Given the description of an element on the screen output the (x, y) to click on. 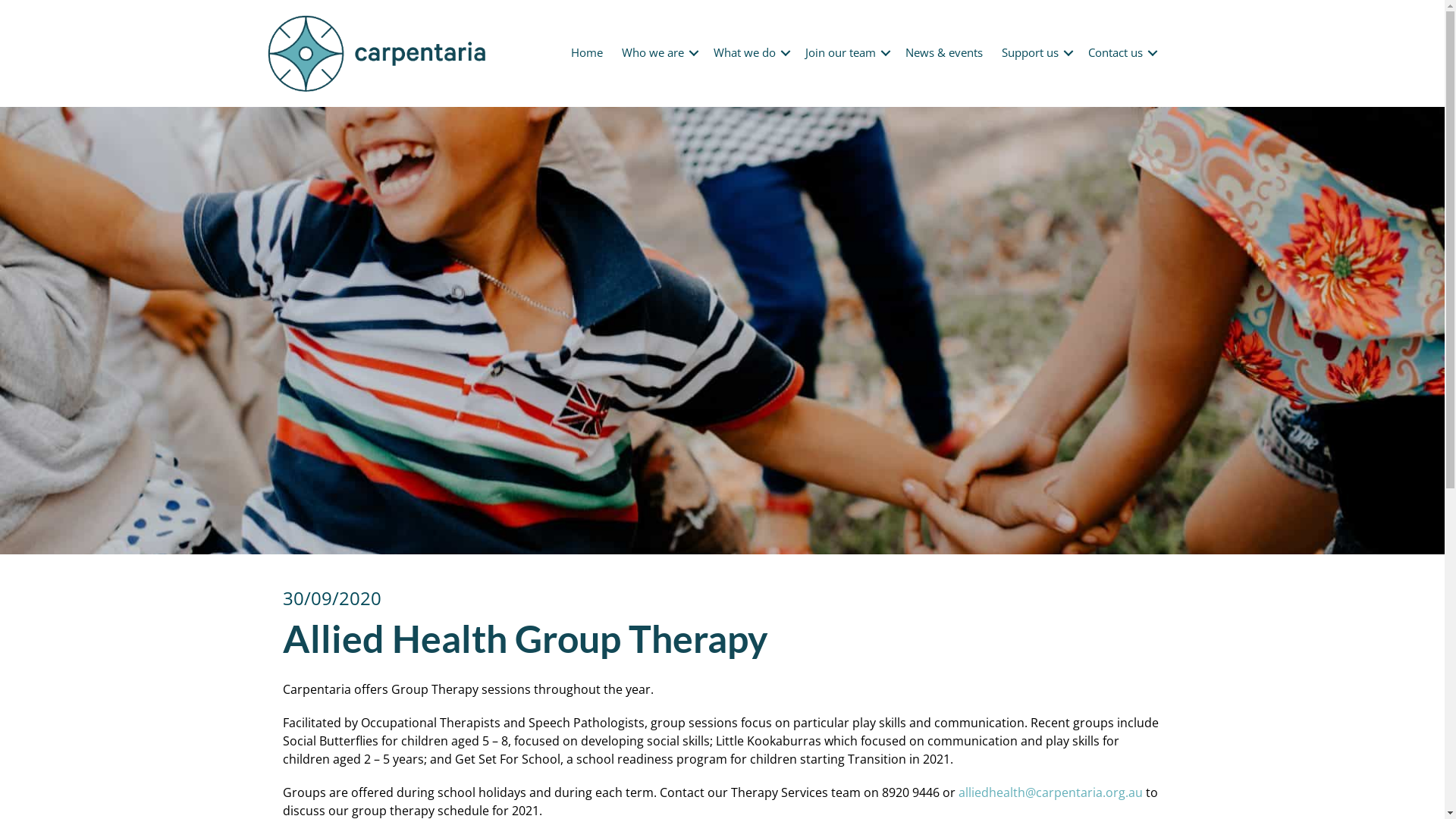
Support us Element type: text (1034, 53)
What we do Element type: text (748, 53)
Join our team Element type: text (845, 53)
Who we are Element type: text (657, 53)
Home Element type: text (586, 53)
carpentaria disability services Element type: hover (375, 53)
News & events Element type: text (943, 53)
Contact us Element type: text (1119, 53)
alliedhealth@carpentaria.org.au Element type: text (1050, 792)
